Given the description of an element on the screen output the (x, y) to click on. 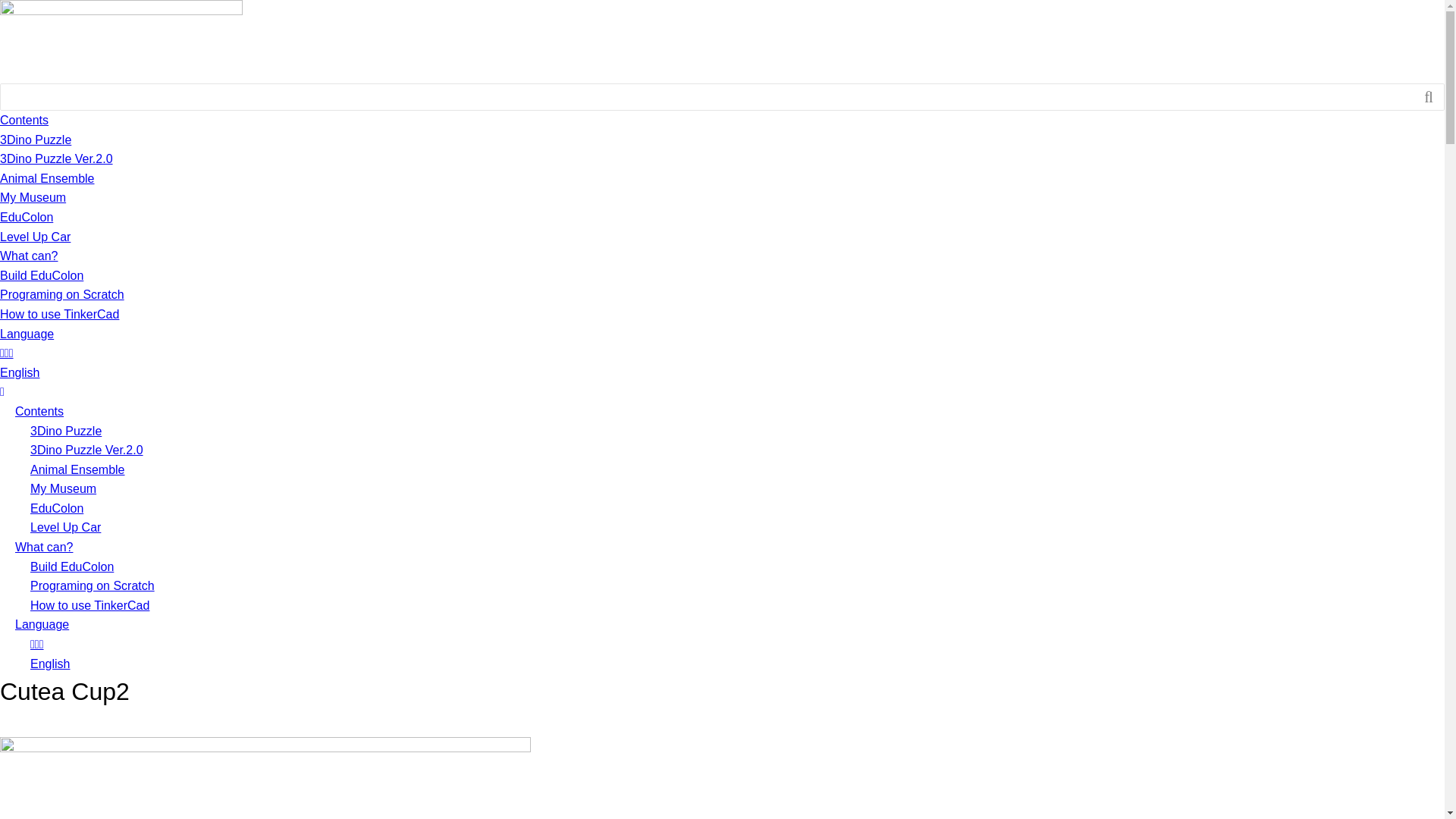
3Dino Puzzle Element type: text (35, 139)
How to use TinkerCad Element type: text (59, 313)
3Dino Puzzle Ver.2.0 Element type: text (56, 158)
3Dino Puzzle Ver.2.0 Element type: text (86, 449)
Programing on Scratch Element type: text (62, 294)
Contents Element type: text (39, 410)
Animal Ensemble Element type: text (77, 469)
Programing on Scratch Element type: text (92, 585)
Build EduColon Element type: text (41, 275)
3Dino Puzzle Element type: text (65, 430)
EduColon Element type: text (26, 216)
Build EduColon Element type: text (71, 566)
How to use TinkerCad Element type: text (89, 605)
Language Element type: text (42, 624)
English Element type: text (19, 372)
My Museum Element type: text (63, 488)
Level Up Car Element type: text (35, 236)
English Element type: text (49, 663)
Contents Element type: text (24, 119)
What can? Element type: text (28, 255)
What can? Element type: text (43, 546)
Language Element type: text (26, 333)
EduColon Element type: text (56, 508)
Animal Ensemble Element type: text (47, 178)
Level Up Car Element type: text (65, 526)
My Museum Element type: text (32, 197)
